Given the description of an element on the screen output the (x, y) to click on. 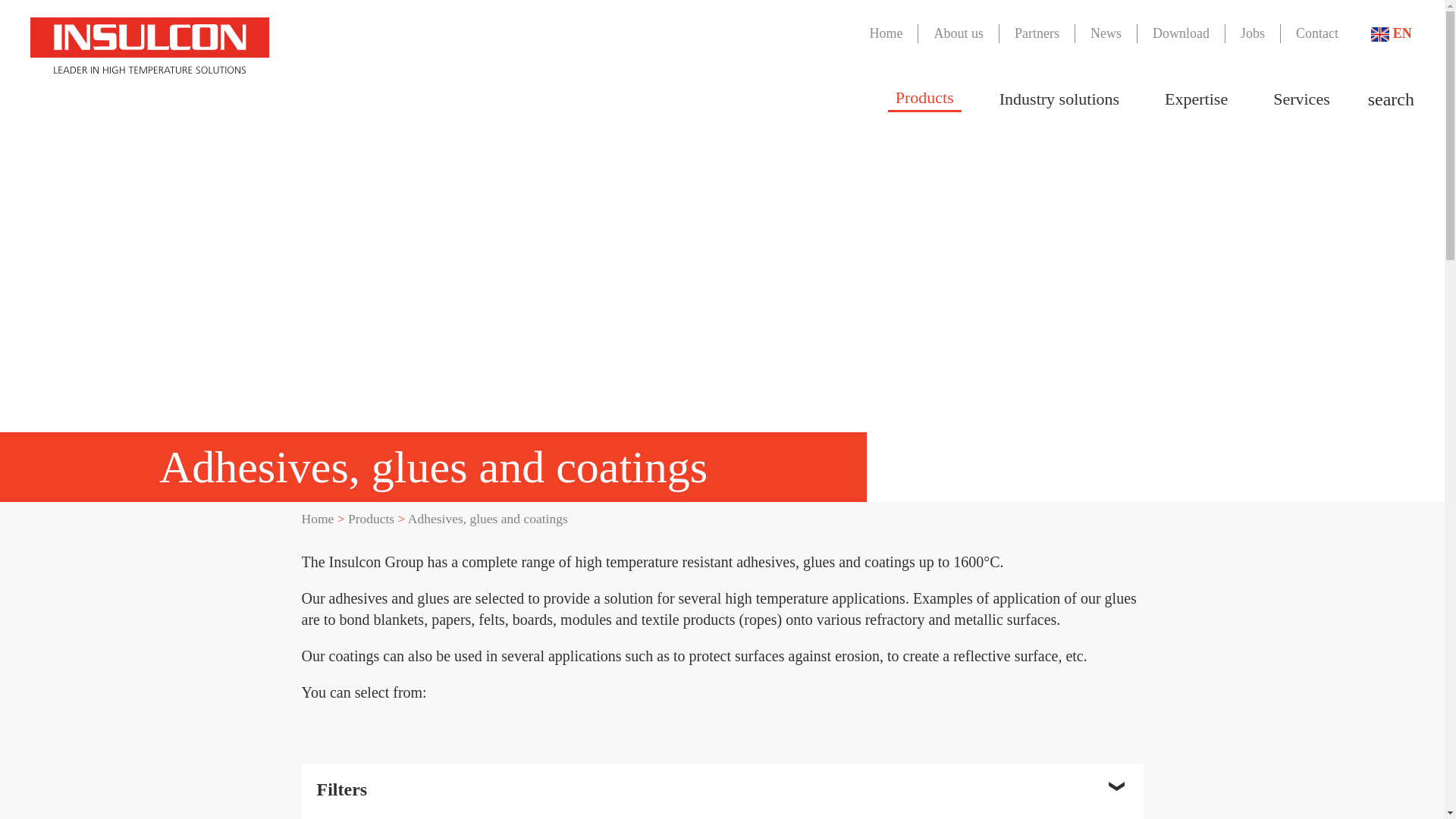
Partners (1036, 33)
Products (924, 99)
Home (317, 518)
Services (1301, 99)
Industry solutions (1058, 99)
Home (317, 518)
search (1390, 99)
EN (1391, 33)
Expertise (1195, 99)
Home (885, 33)
